Given the description of an element on the screen output the (x, y) to click on. 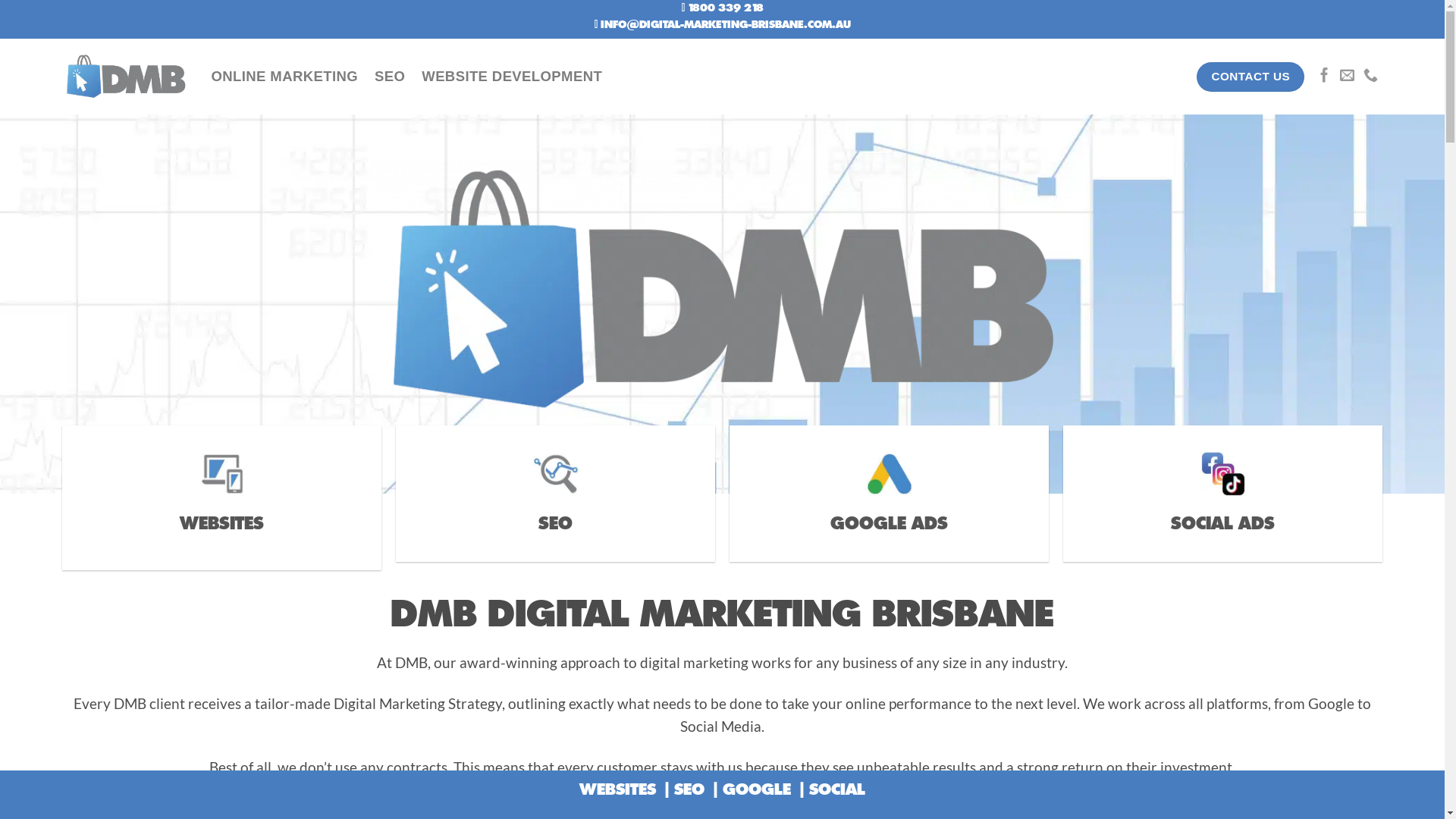
WEBSITE DEVELOPMENT Element type: text (511, 76)
GOOGLE Element type: text (756, 790)
SOCIAL Element type: text (837, 790)
1800 339 218 Element type: text (724, 8)
WEBSITES Element type: text (221, 524)
GOOGLE ADS Element type: text (888, 524)
ONLINE MARKETING Element type: text (283, 76)
CONTACT US Element type: text (1250, 76)
Call us Element type: hover (1370, 76)
SEO Element type: text (689, 790)
WEBSITES Element type: text (617, 790)
SEO Element type: text (555, 524)
INFO@DIGITAL-MARKETING-BRISBANE.COM.AU Element type: text (725, 24)
SOCIAL ADS Element type: text (1222, 524)
SEO Element type: text (389, 76)
Follow on Facebook Element type: hover (1324, 76)
Send us an email Element type: hover (1346, 76)
